Given the description of an element on the screen output the (x, y) to click on. 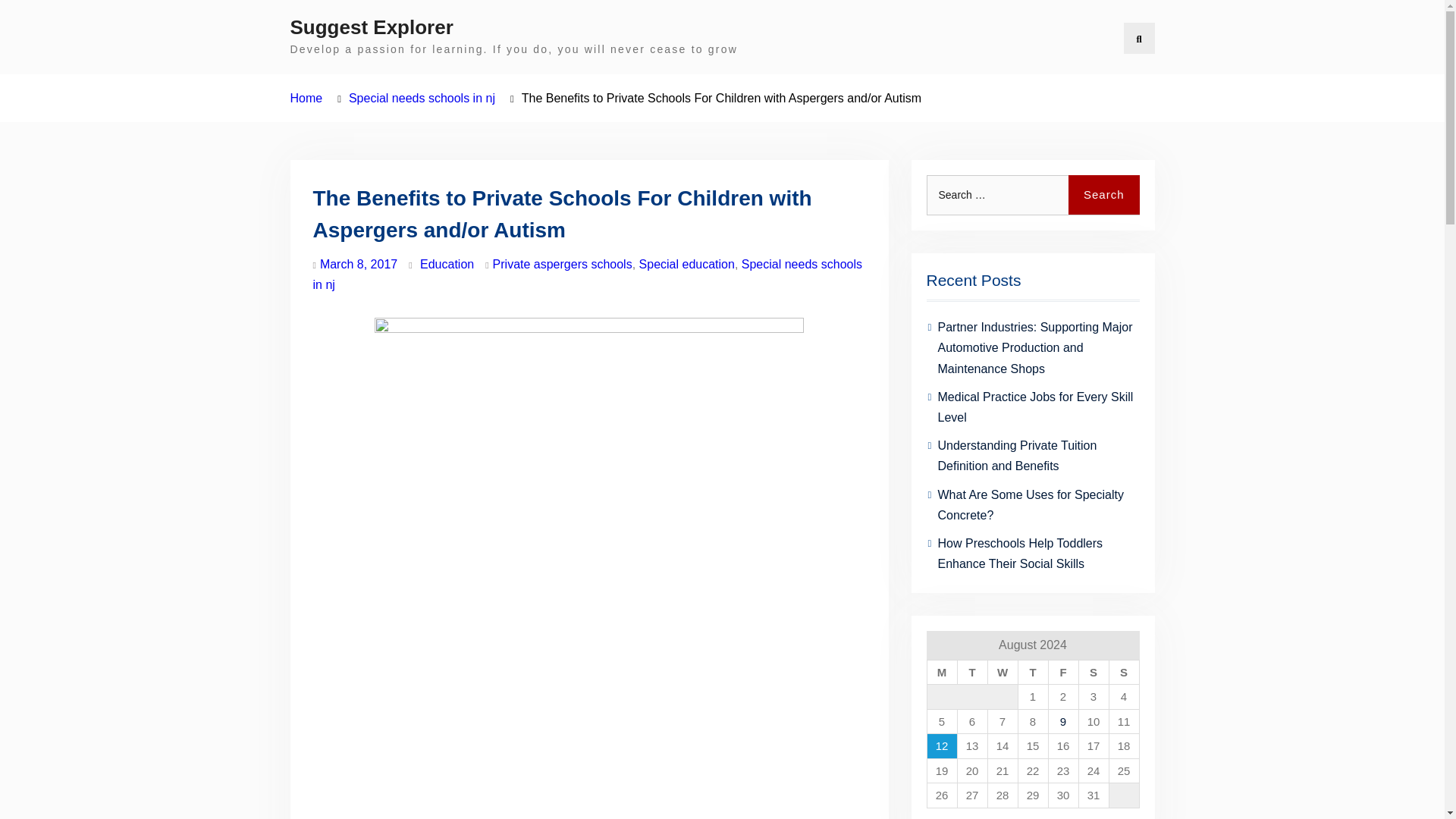
Tuesday (971, 672)
Understanding Private Tuition Definition and Benefits (1016, 455)
Special needs schools in nj (587, 274)
Special education (687, 264)
Education (447, 264)
Wednesday (1002, 672)
What Are Some Uses for Specialty Concrete? (1029, 504)
Search (1104, 195)
Private aspergers schools (562, 264)
